Given the description of an element on the screen output the (x, y) to click on. 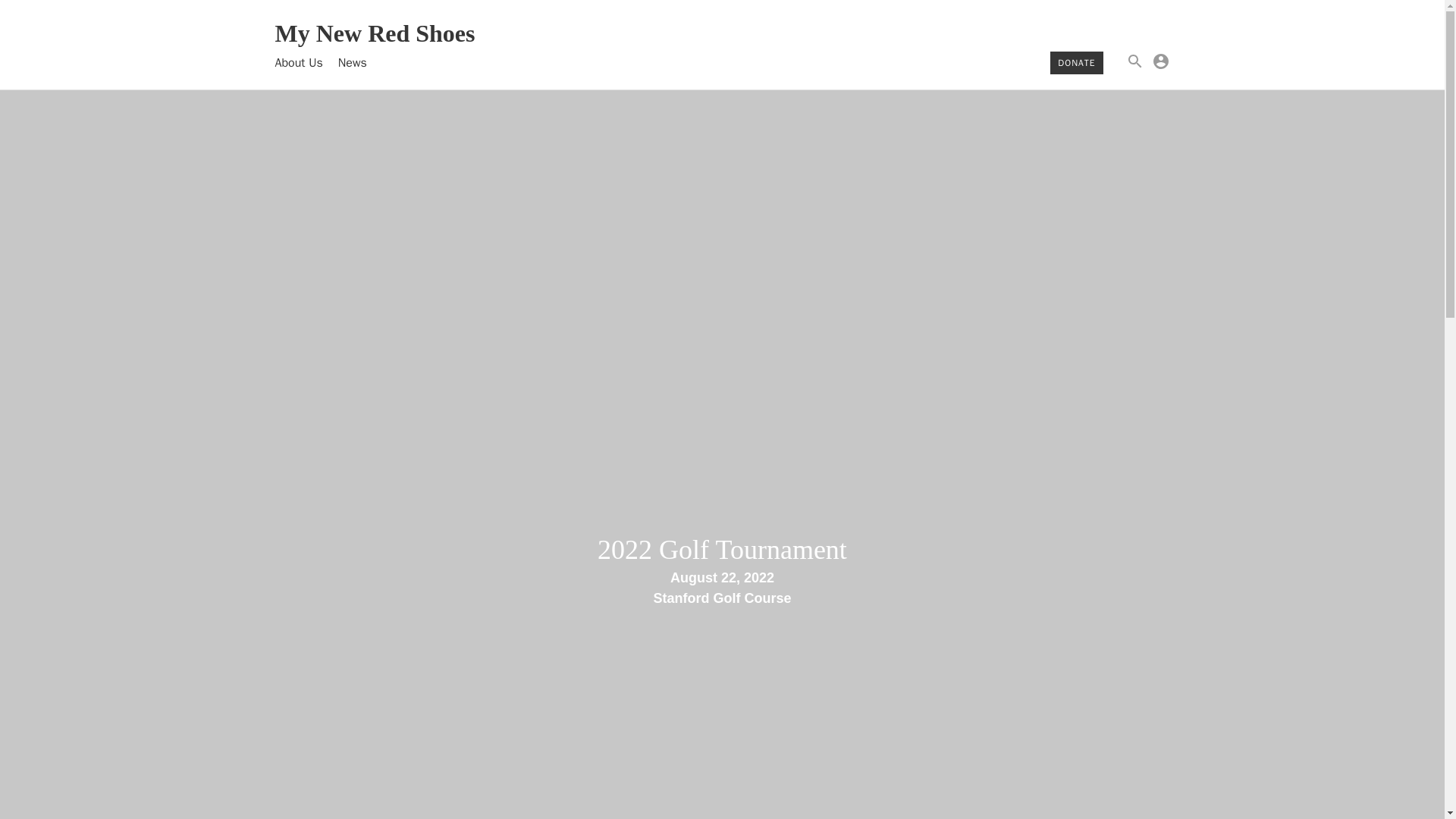
DONATE (1076, 62)
About Us (298, 62)
My New Red Shoes (374, 37)
News (351, 62)
